Given the description of an element on the screen output the (x, y) to click on. 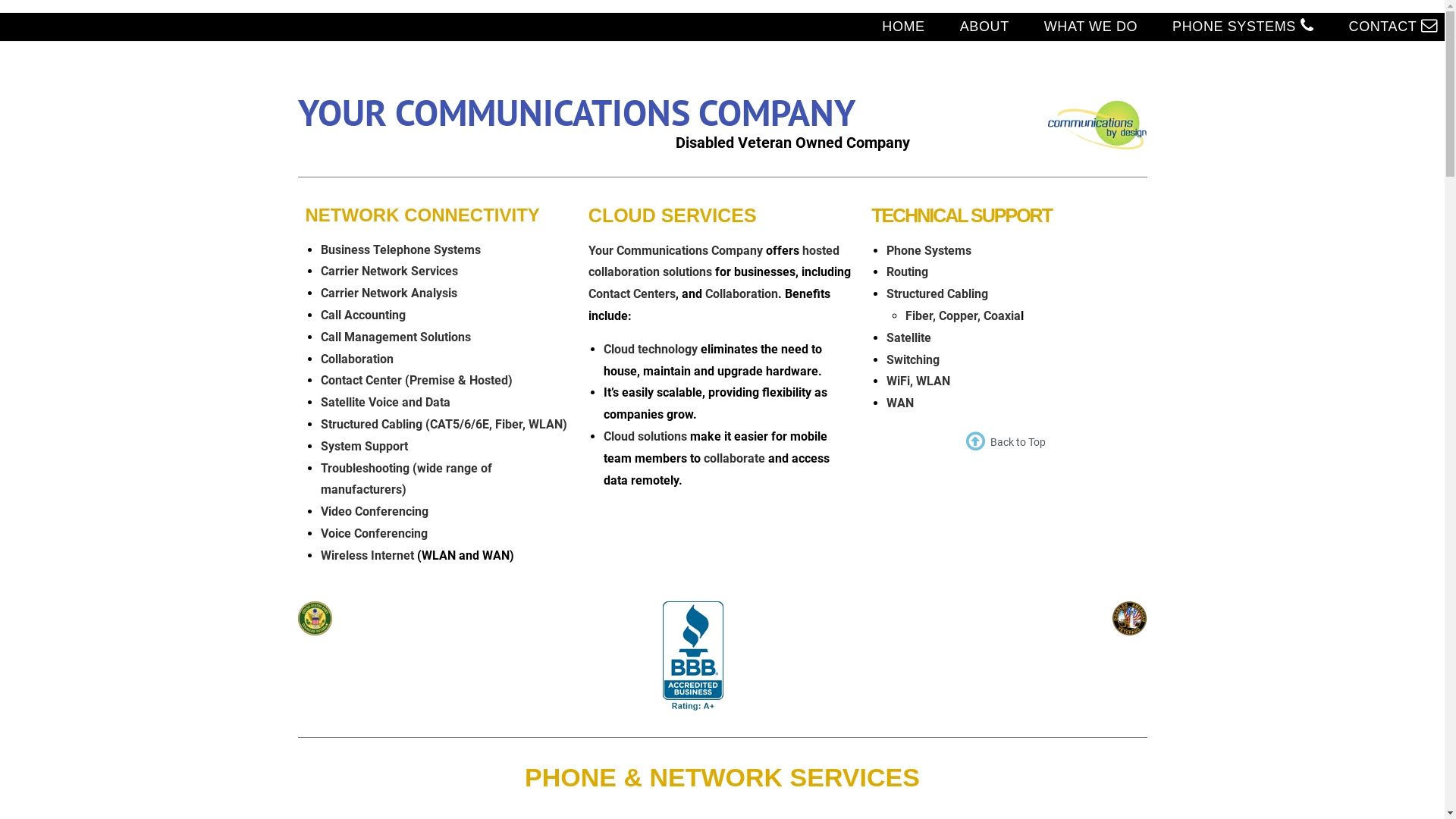
WiFi, WLAN Element type: text (918, 380)
Cloud solutions Element type: text (645, 436)
Structured Cabling Element type: text (937, 293)
Cloud technology Element type: text (650, 349)
PHONE SYSTEMS Element type: text (1242, 26)
Switching Element type: text (912, 359)
System Support Element type: text (363, 446)
Structured Cabling (CAT5/6/6E, Fiber, WLAN) Element type: text (443, 424)
Carrier Network Analysis Element type: text (388, 292)
Routing Element type: text (907, 271)
Wireless Internet Element type: text (366, 555)
CLOUD SERVICES Element type: text (672, 214)
Disabled Veteran Owned Company Element type: text (792, 142)
Call Management Solutions Element type: text (395, 336)
TECHNICAL SUPPORT Element type: text (961, 214)
YOUR COMMUNICATIONS COMPANY Element type: text (575, 111)
NETWORK CONNECTIVITY Element type: text (421, 214)
Carrier Network Services Element type: text (388, 270)
WHAT WE DO Element type: text (1090, 26)
Contact Center (Premise & Hosted) Element type: text (415, 380)
Satellite Element type: text (908, 337)
Phone Systems Element type: text (928, 250)
Back to Top Element type: text (1005, 442)
ABOUT Element type: text (984, 26)
Collaboration Element type: text (741, 293)
collaborate Element type: text (734, 458)
Call Accounting Element type: text (362, 314)
Collaboration Element type: text (356, 358)
Video Conferencing Element type: text (373, 511)
Satellite Voice and Data Element type: text (384, 402)
hosted collaboration solutions Element type: text (713, 261)
Contact Centers Element type: text (631, 293)
Your Communications Company Element type: text (675, 250)
Business Telephone Systems Element type: text (400, 249)
WAN Element type: text (899, 402)
Fiber, Copper, Coaxia Element type: text (962, 315)
Voice Conferencing Element type: text (373, 533)
HOME Element type: text (902, 26)
Troubleshooting (wide range of manufacturers) Element type: text (405, 479)
